Given the description of an element on the screen output the (x, y) to click on. 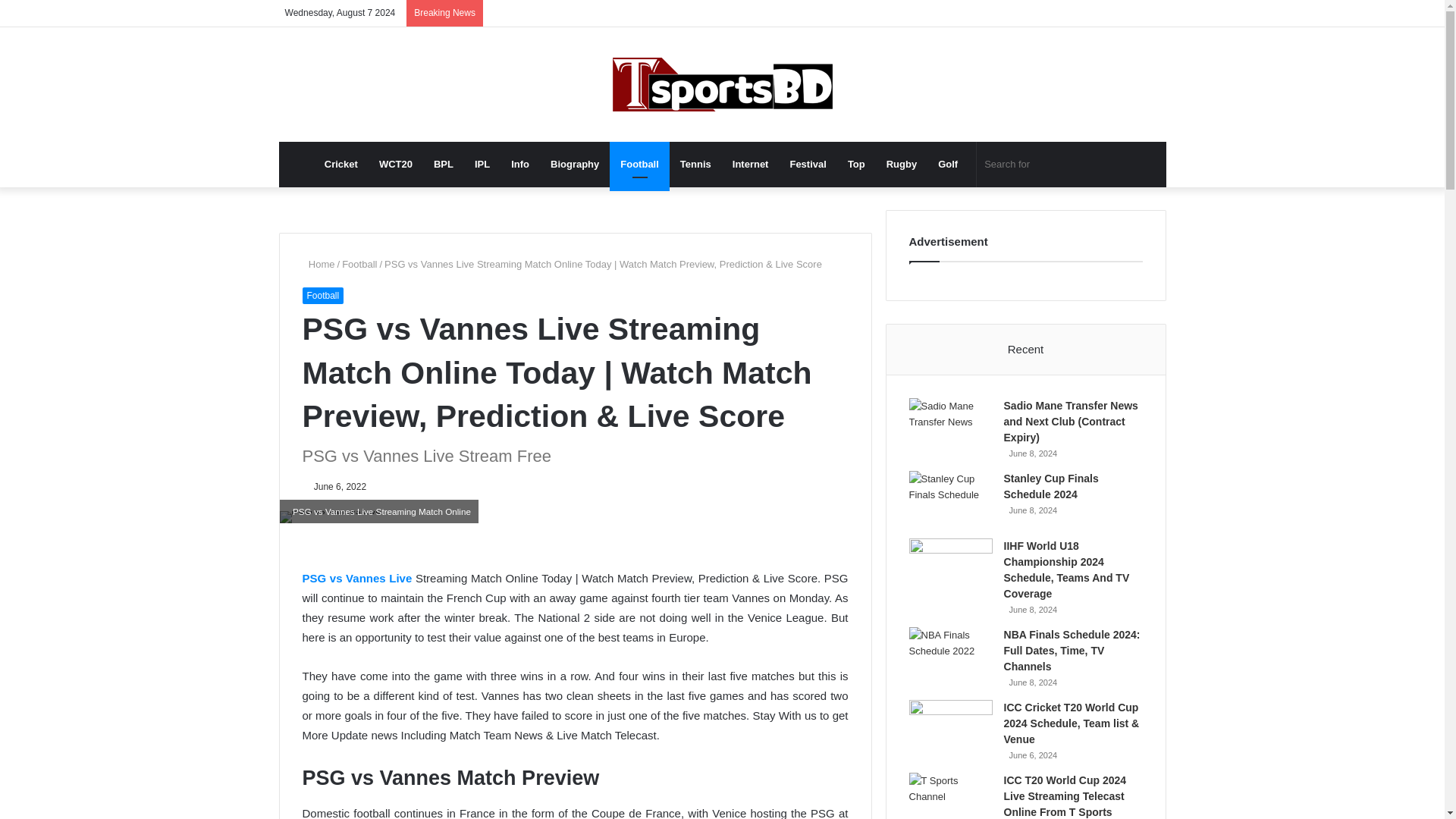
Rugby (901, 164)
Football (322, 295)
Search for (1053, 164)
Football (639, 164)
PSG vs Vannes Live (356, 577)
Cricket (341, 164)
T Sports Live (722, 84)
WCT20 (395, 164)
Home (317, 264)
Golf (947, 164)
